Given the description of an element on the screen output the (x, y) to click on. 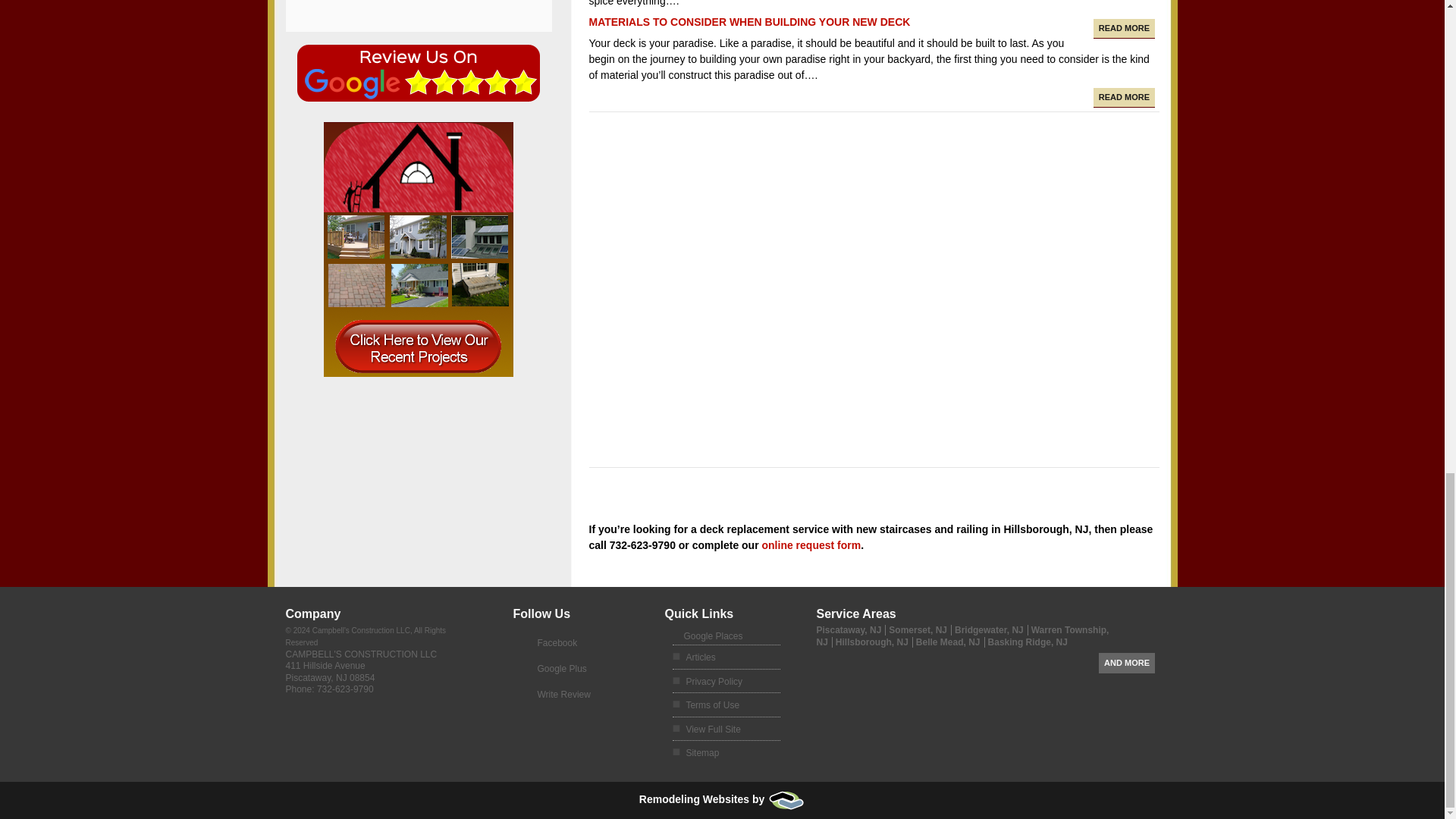
MATERIALS TO CONSIDER WHEN BUILDING YOUR NEW DECK (749, 21)
READ MORE (1123, 97)
READ MORE (1123, 28)
